Given the description of an element on the screen output the (x, y) to click on. 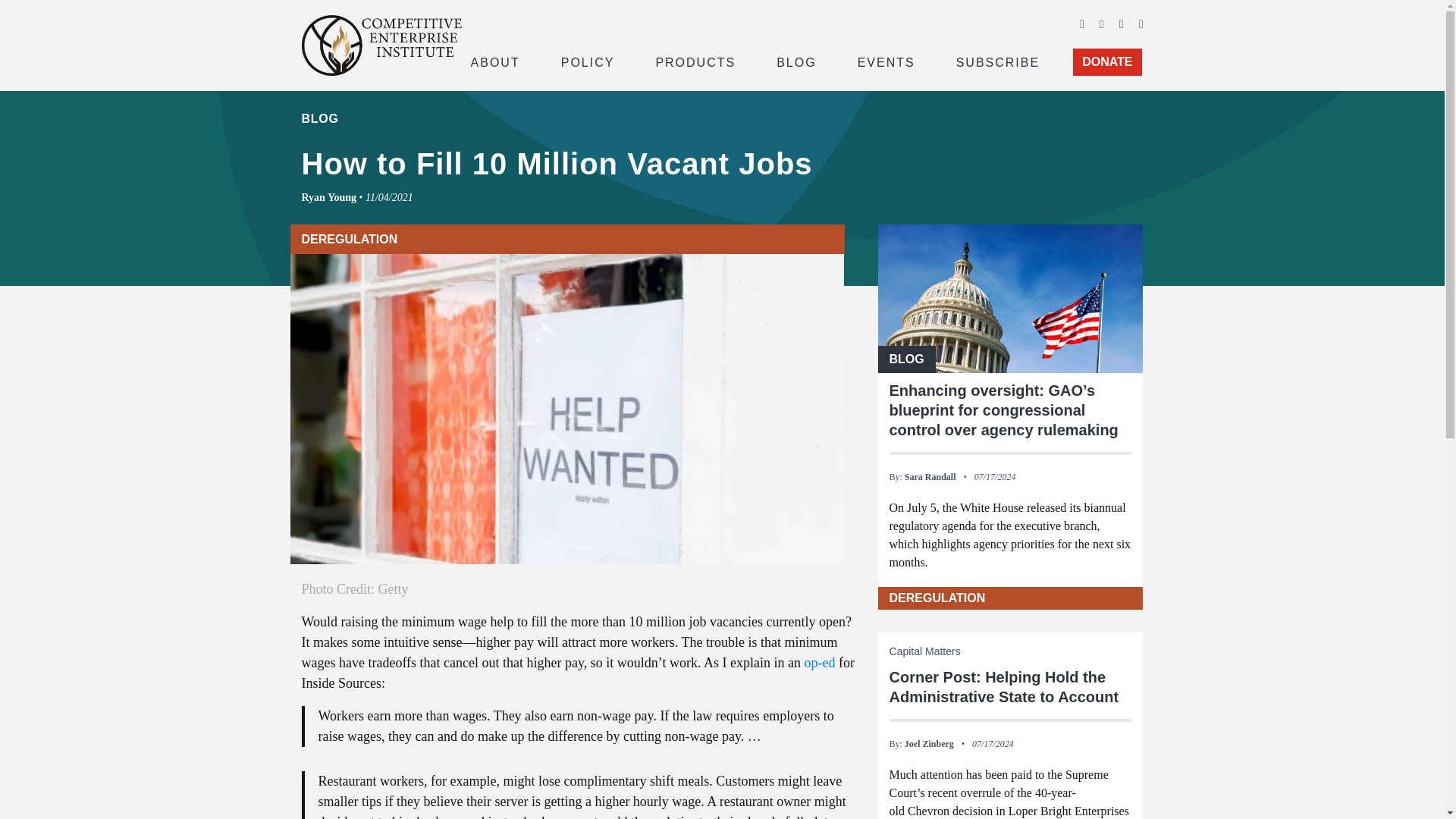
BLOG (796, 61)
DONATE (1107, 62)
PRODUCTS (694, 61)
Facebook (1082, 23)
EVENTS (886, 61)
Twitter (1101, 23)
ABOUT (495, 61)
SUBSCRIBE (997, 61)
POLICY (588, 61)
Instagram (1140, 23)
YouTube (1121, 23)
